Given the description of an element on the screen output the (x, y) to click on. 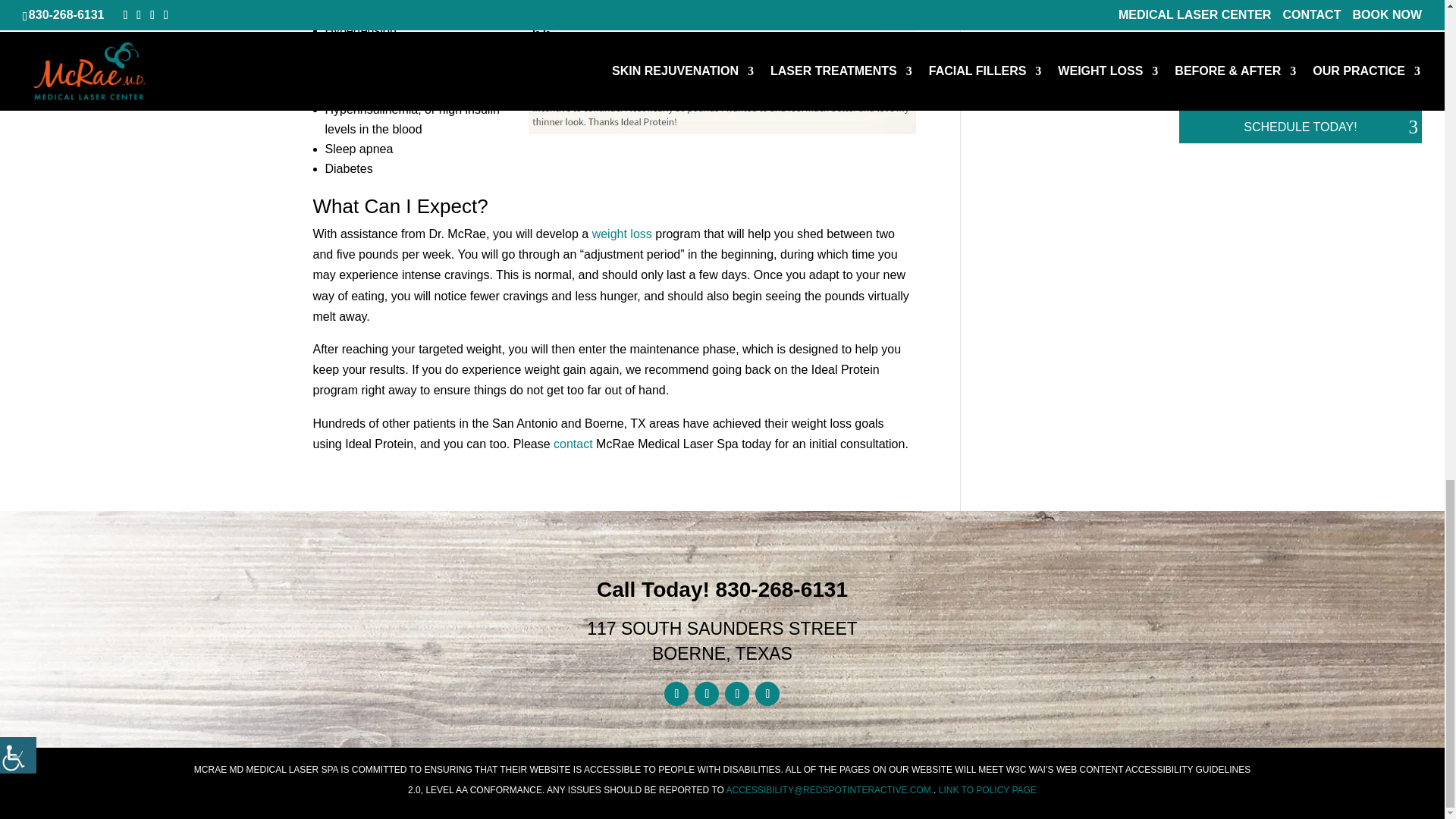
footer-map (1096, 621)
